Given the description of an element on the screen output the (x, y) to click on. 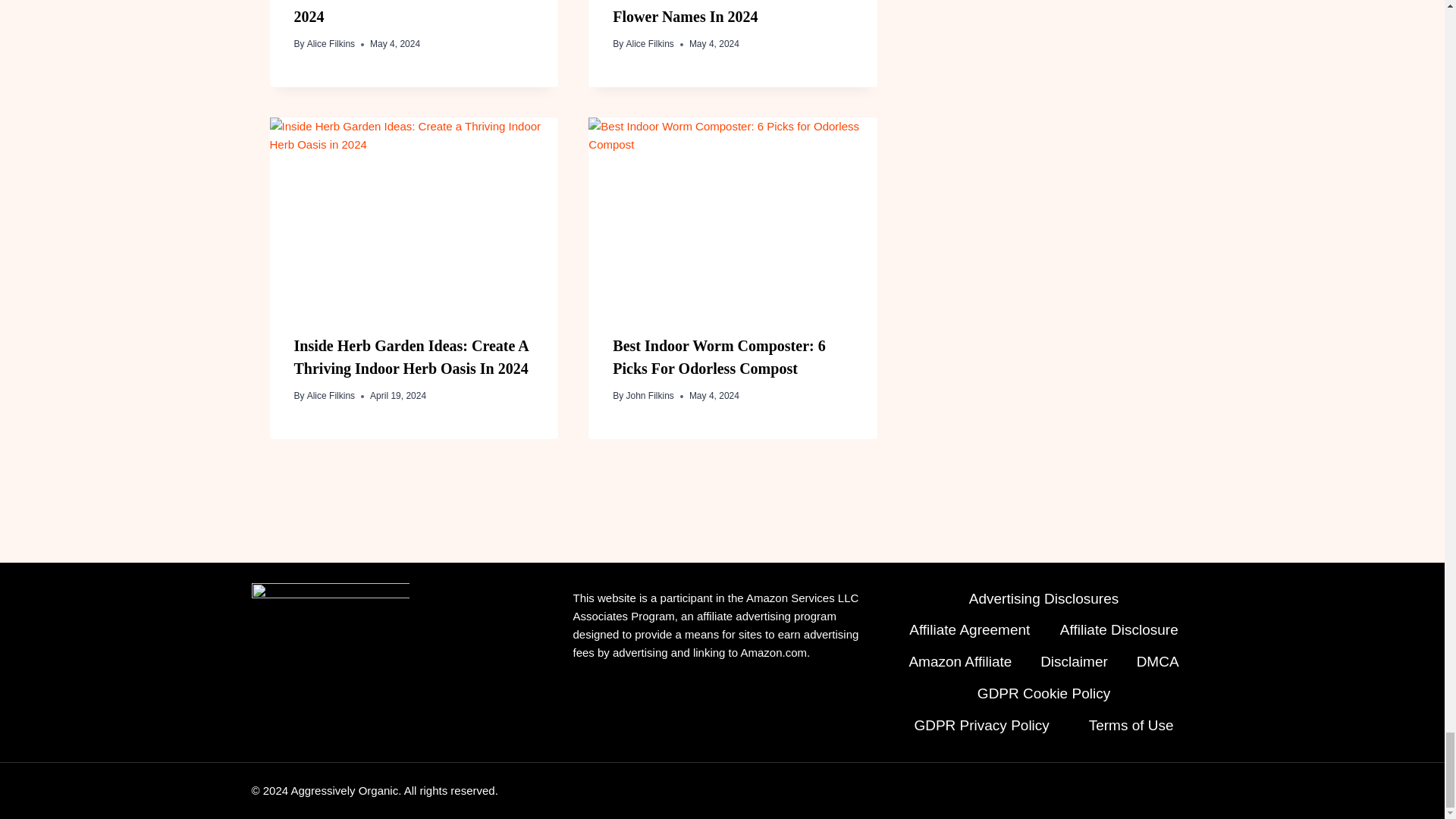
Best Indoor Worm Composter: 6 Picks for Odorless Compost 13 (732, 213)
